Given the description of an element on the screen output the (x, y) to click on. 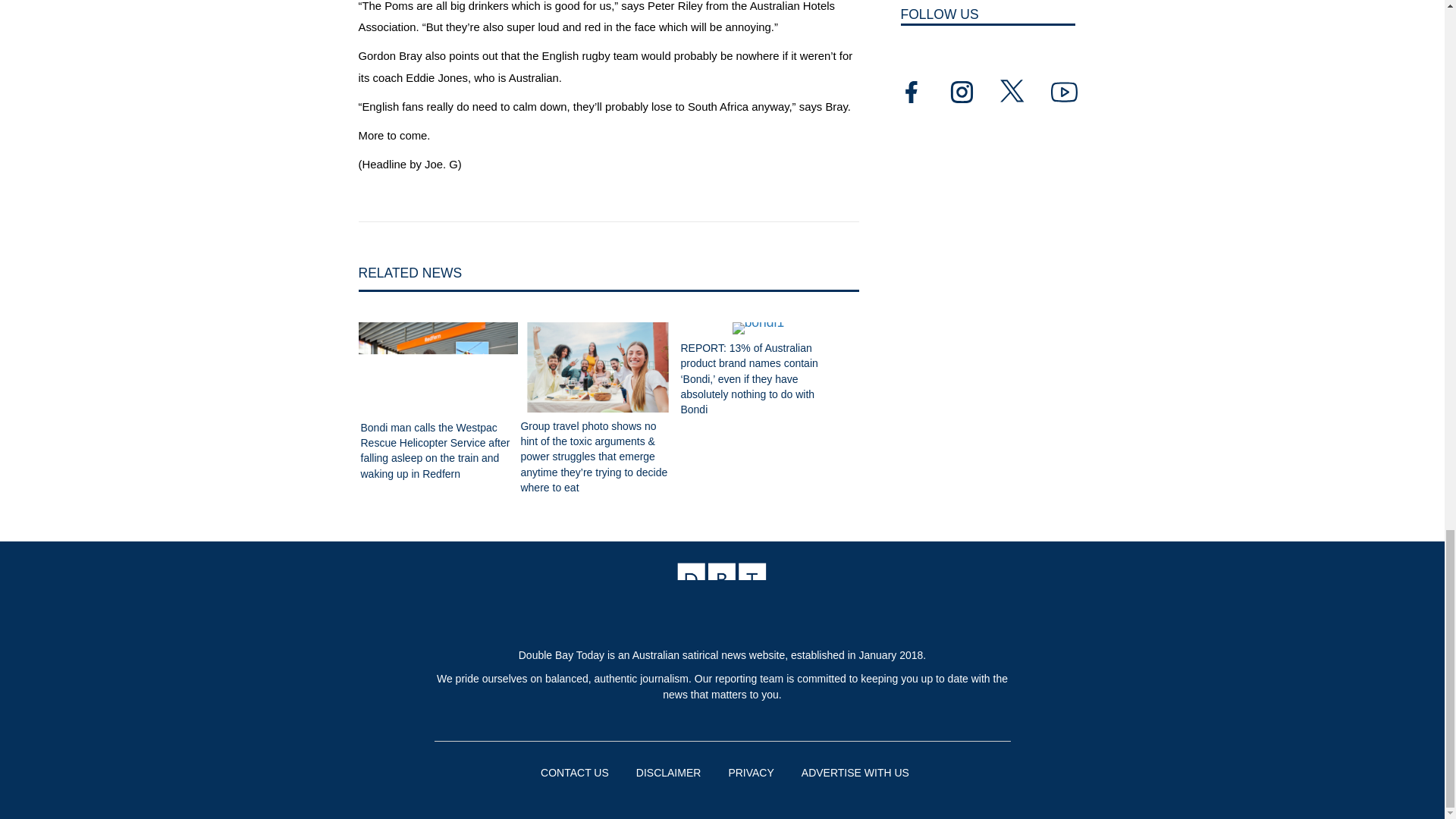
DISCLAIMER (665, 772)
toxic (598, 367)
CONTACT US (572, 772)
PRIVACY (747, 772)
Redern (438, 368)
bondi1 (758, 328)
ADVERTISE WITH US (853, 772)
Logo-retina (721, 593)
